Given the description of an element on the screen output the (x, y) to click on. 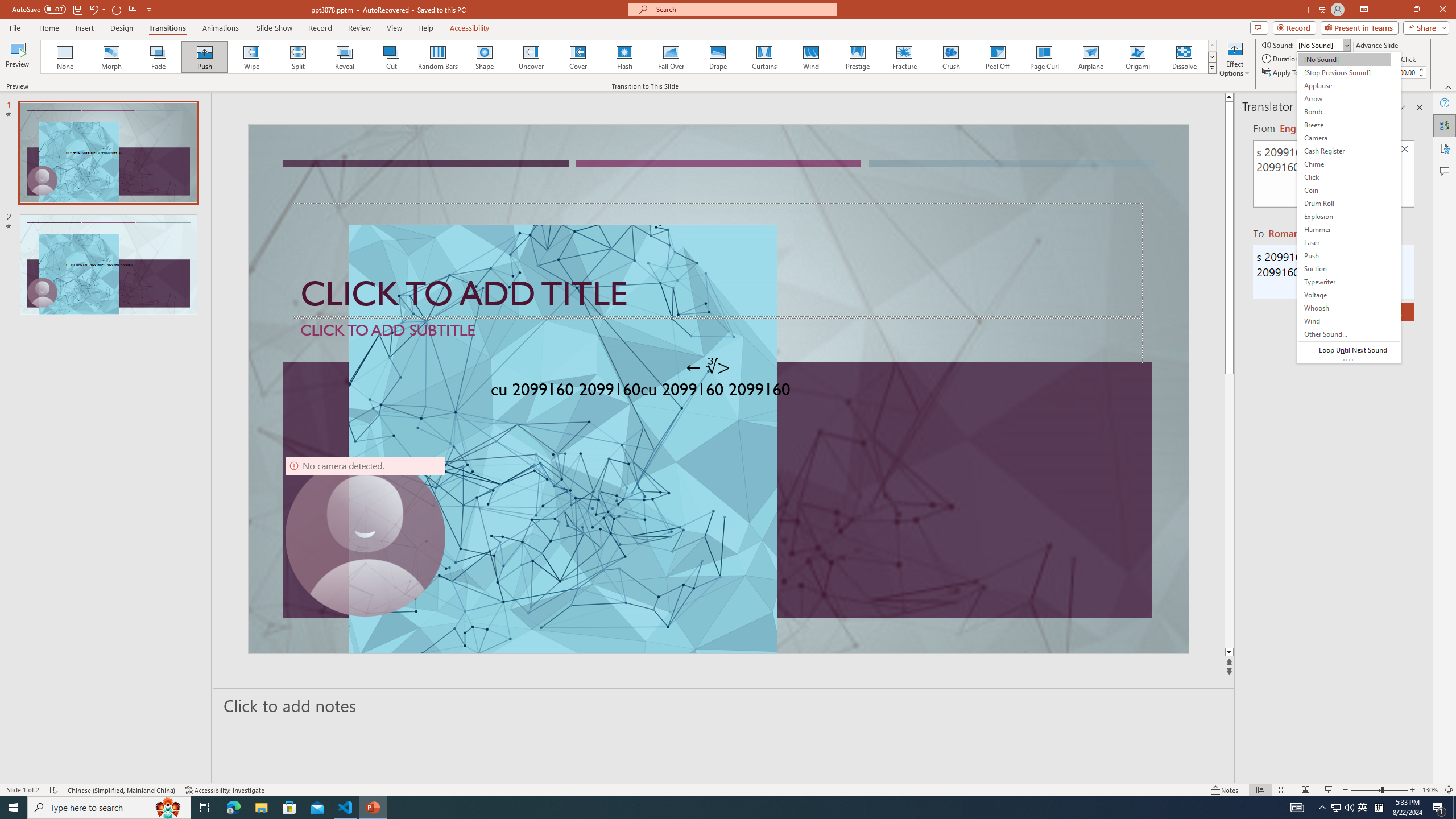
Action Center, 1 new notification (1439, 807)
Shape (484, 56)
Fracture (903, 56)
Crush (950, 56)
Push (205, 56)
